Given the description of an element on the screen output the (x, y) to click on. 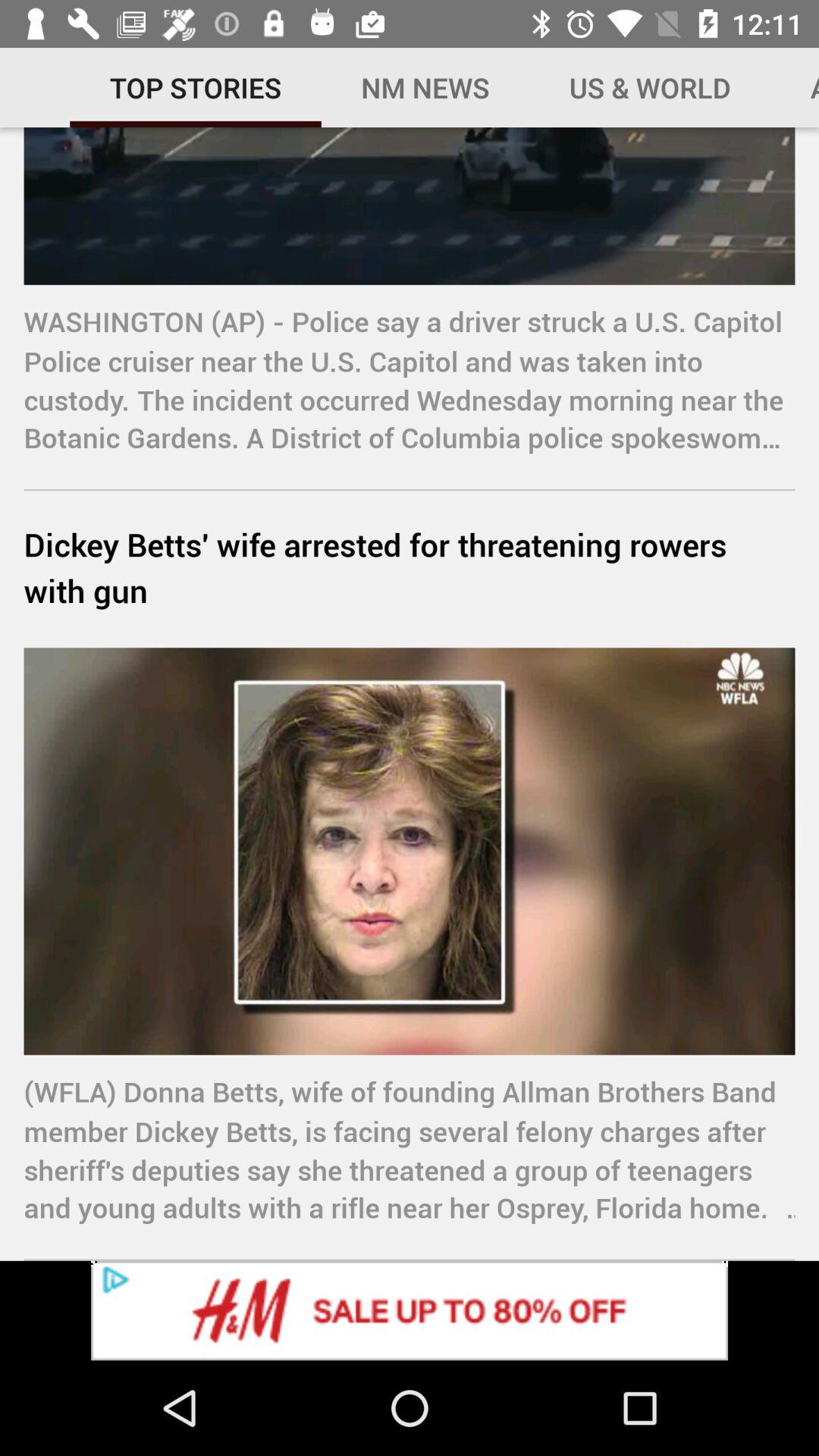
choose item below the wfla donna betts (409, 1310)
